Given the description of an element on the screen output the (x, y) to click on. 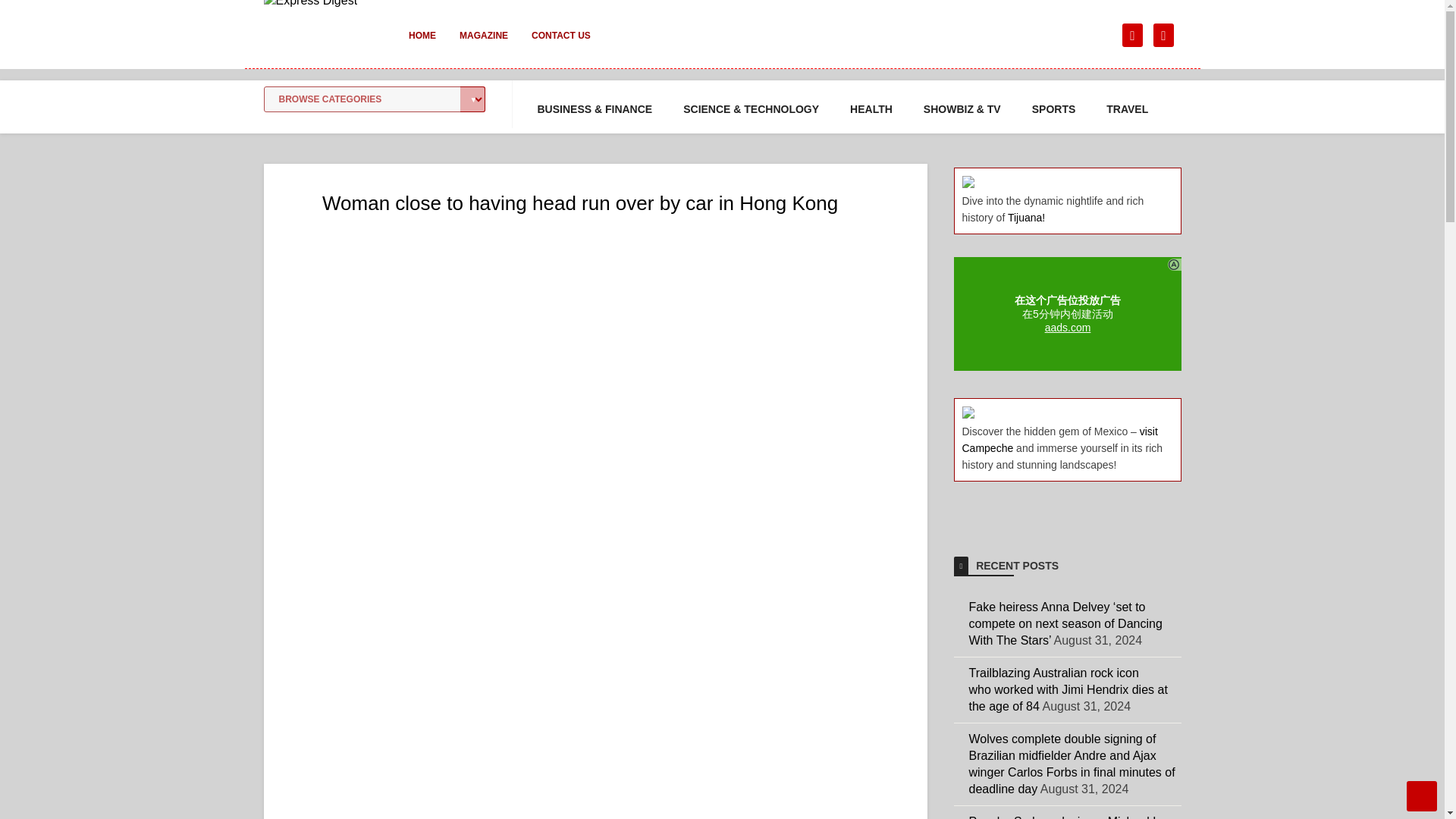
CONTACT US (560, 45)
HEALTH (871, 109)
TRAVEL (1127, 109)
MAGAZINE (482, 45)
Tijuana! (1026, 217)
SPORTS (1053, 109)
visit Campeche (1058, 439)
